Given the description of an element on the screen output the (x, y) to click on. 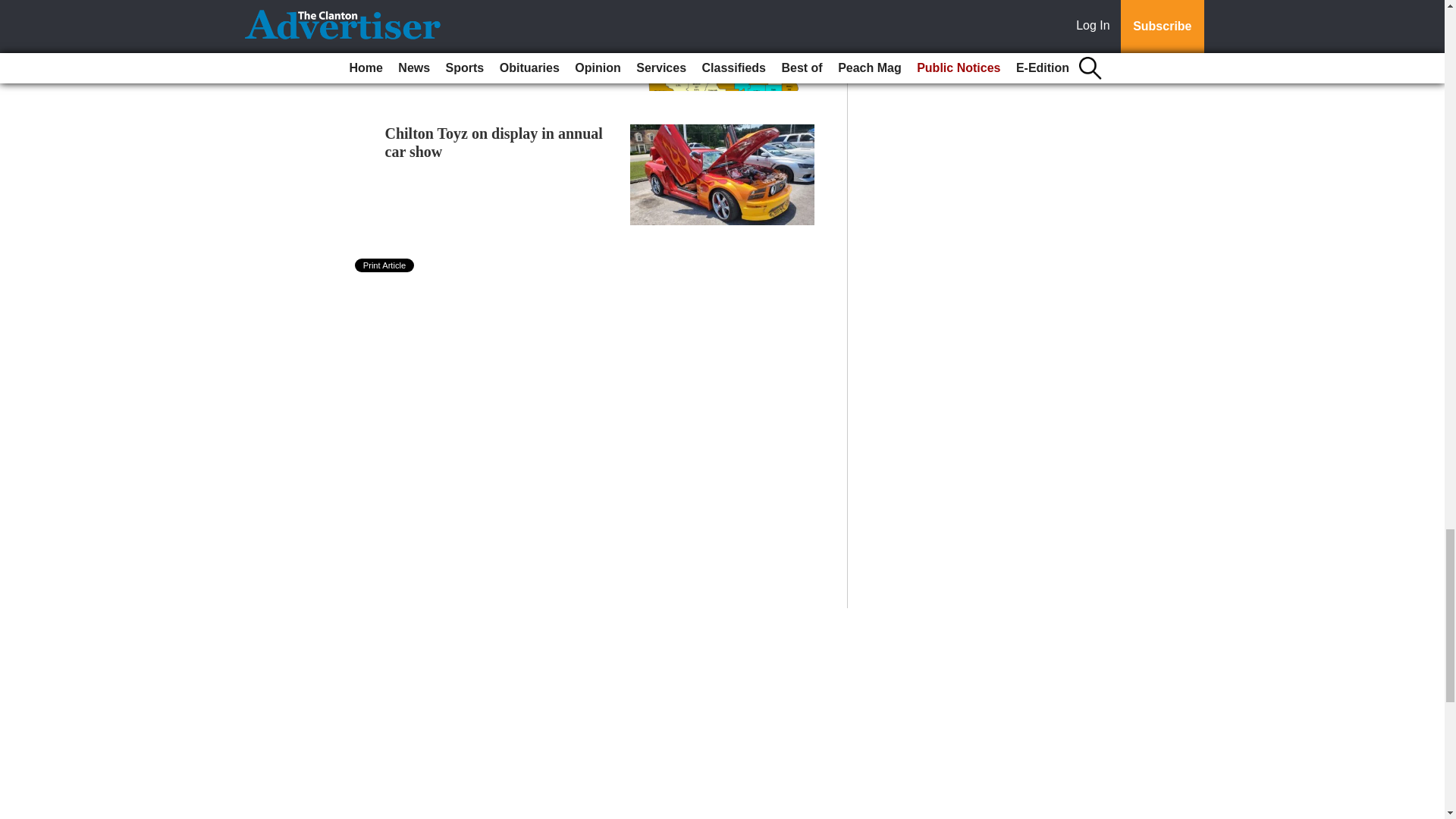
Print Article (384, 264)
Unemployment rate spikes in Chilton from May to June (479, 12)
Chilton Toyz on display in annual car show (493, 142)
Unemployment rate spikes in Chilton from May to June (479, 12)
Chilton Toyz on display in annual car show (493, 142)
